Given the description of an element on the screen output the (x, y) to click on. 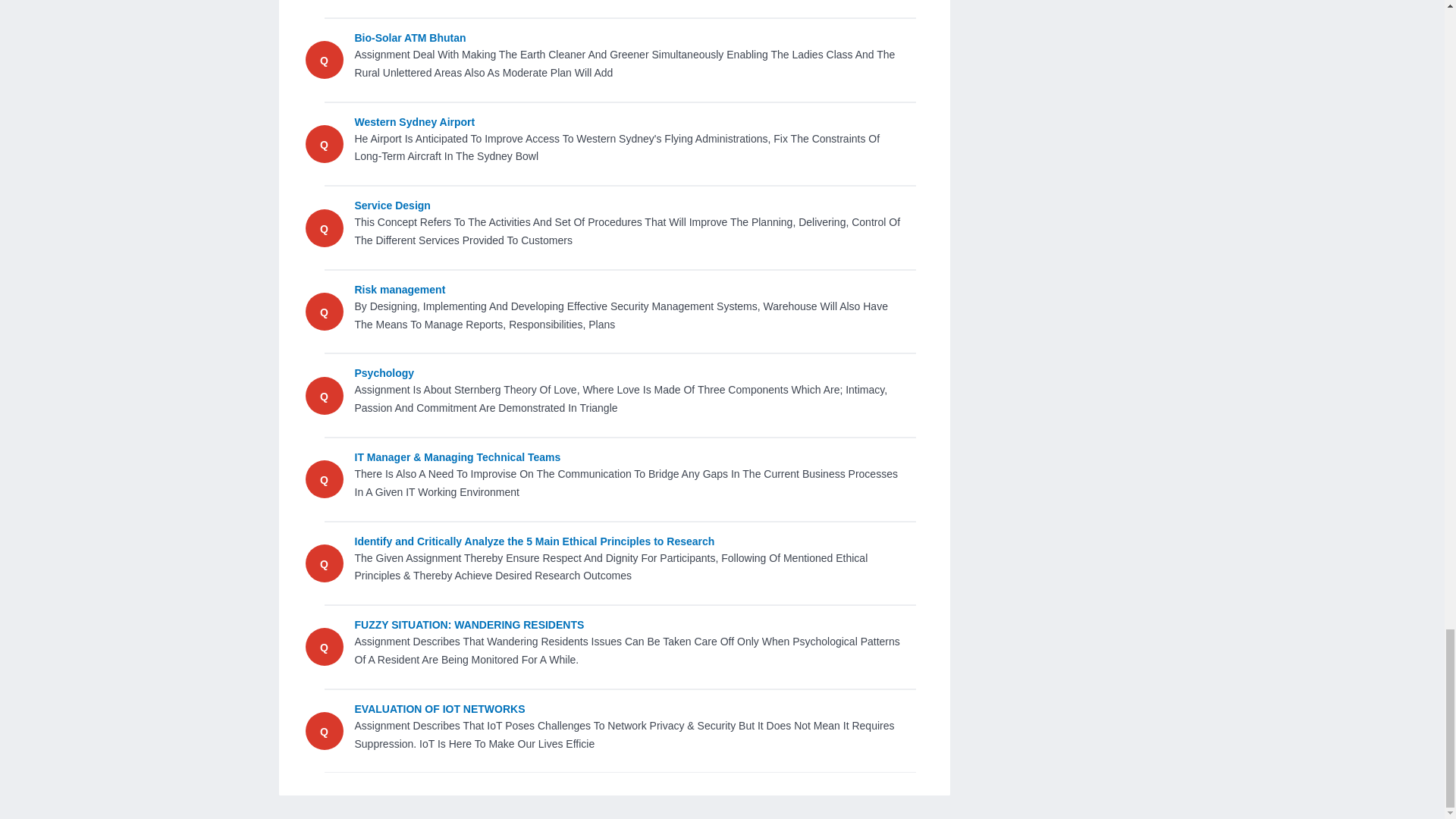
Q (323, 563)
Service Design (628, 205)
Q (323, 731)
Q (323, 396)
Q (323, 60)
Risk management (628, 289)
EVALUATION OF IOT NETWORKS (628, 709)
Psychology (628, 373)
Q (323, 144)
Q (323, 228)
